Given the description of an element on the screen output the (x, y) to click on. 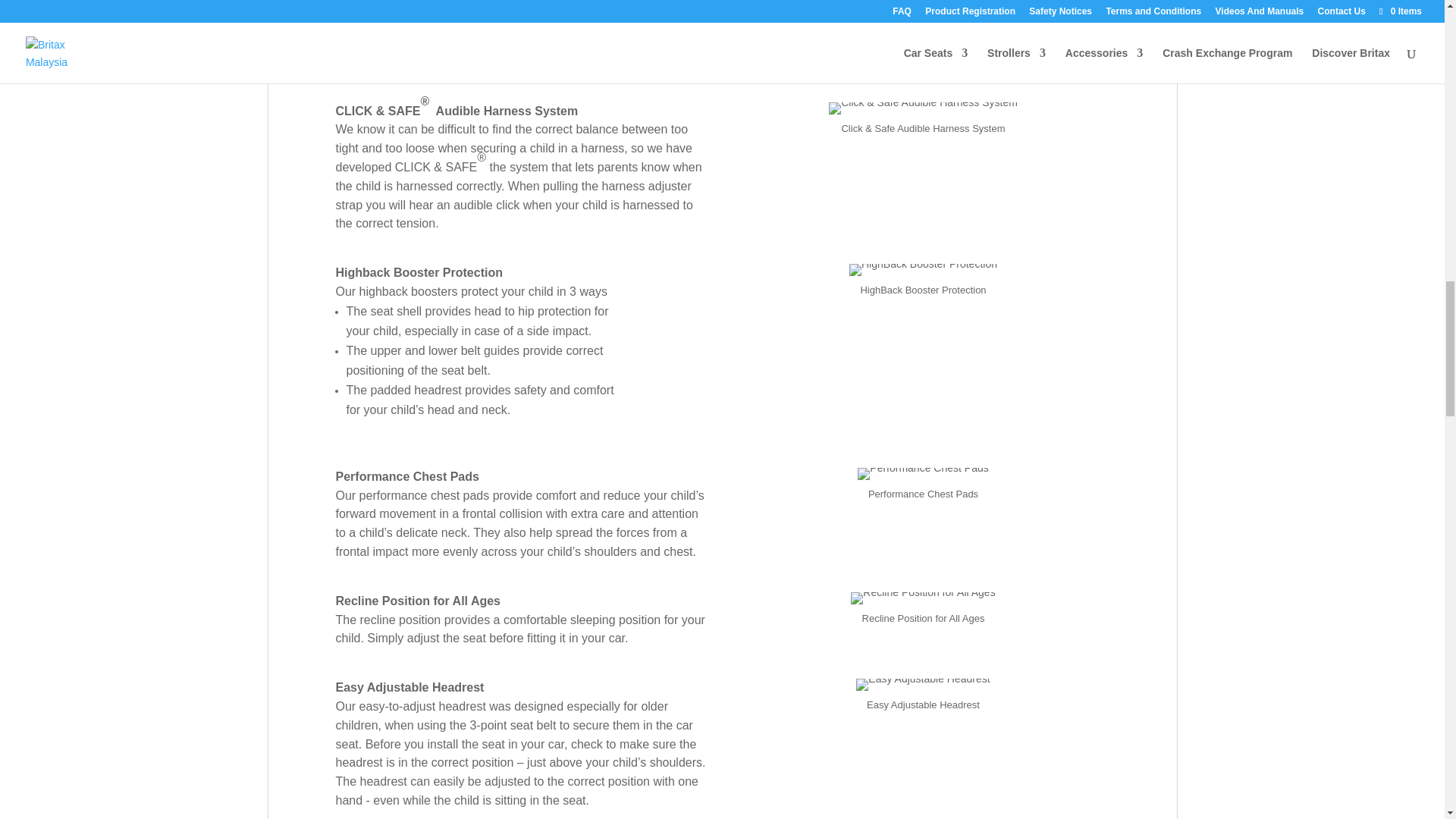
Recline Position for All Ages (922, 598)
Easy Adjustable Headrest (923, 684)
Performance Chest Pads (922, 473)
HighBack Booster Protection (922, 269)
